Given the description of an element on the screen output the (x, y) to click on. 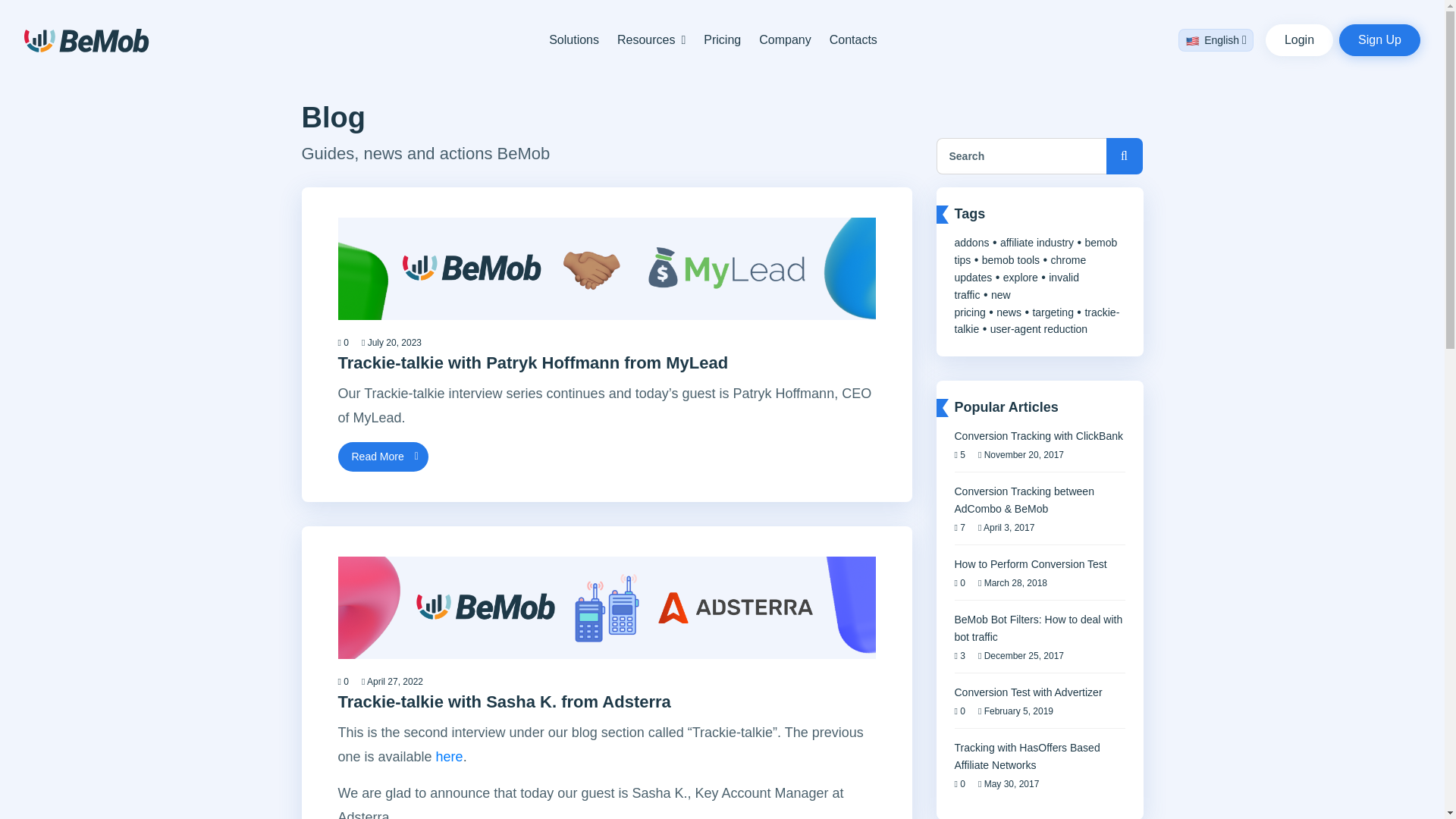
Login (1299, 40)
Solutions (573, 39)
Company (784, 39)
Pricing (722, 39)
Contacts (853, 39)
Resources (646, 39)
Sign Up (1380, 40)
